Given the description of an element on the screen output the (x, y) to click on. 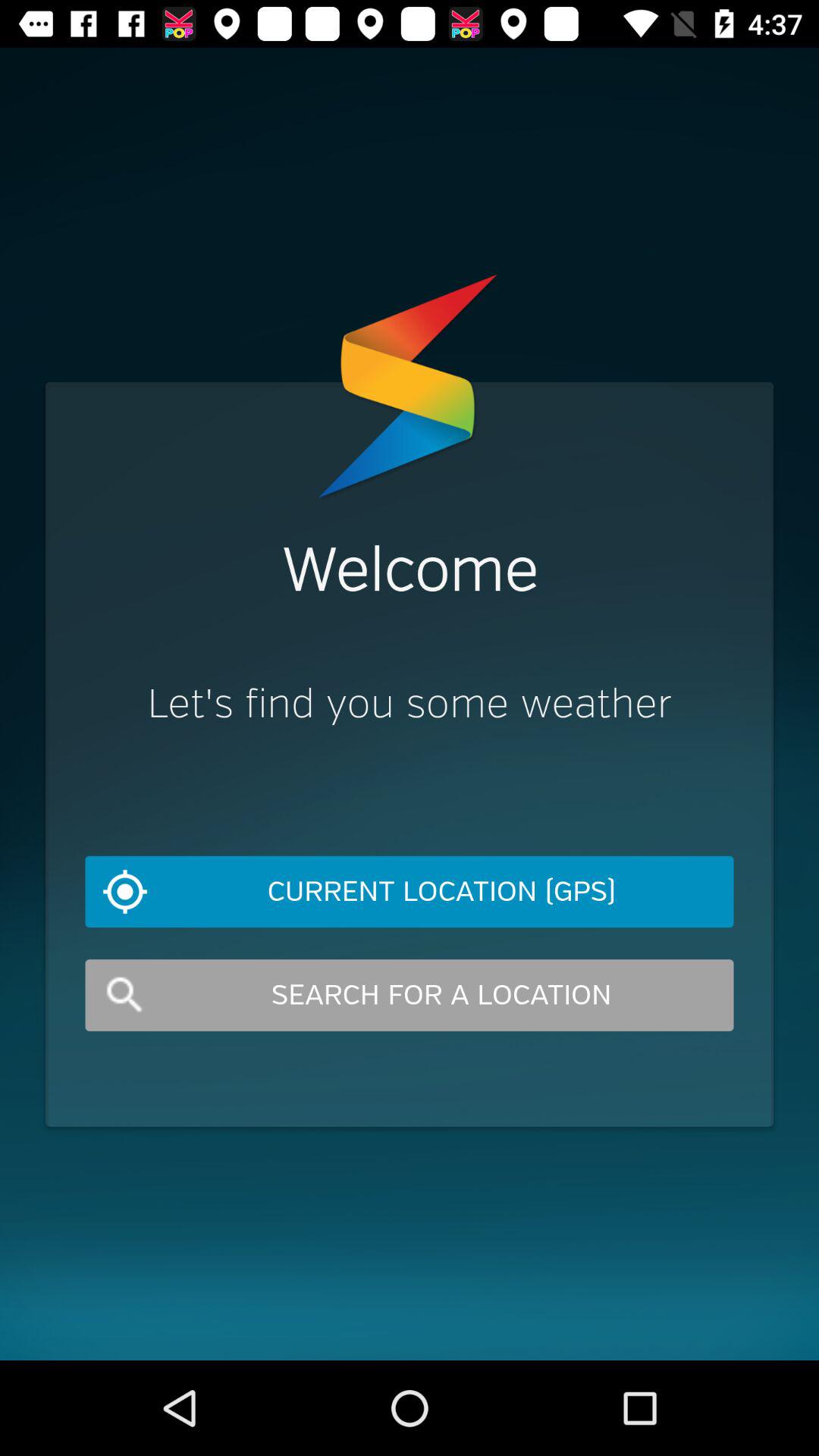
jump until the search for a (409, 995)
